Given the description of an element on the screen output the (x, y) to click on. 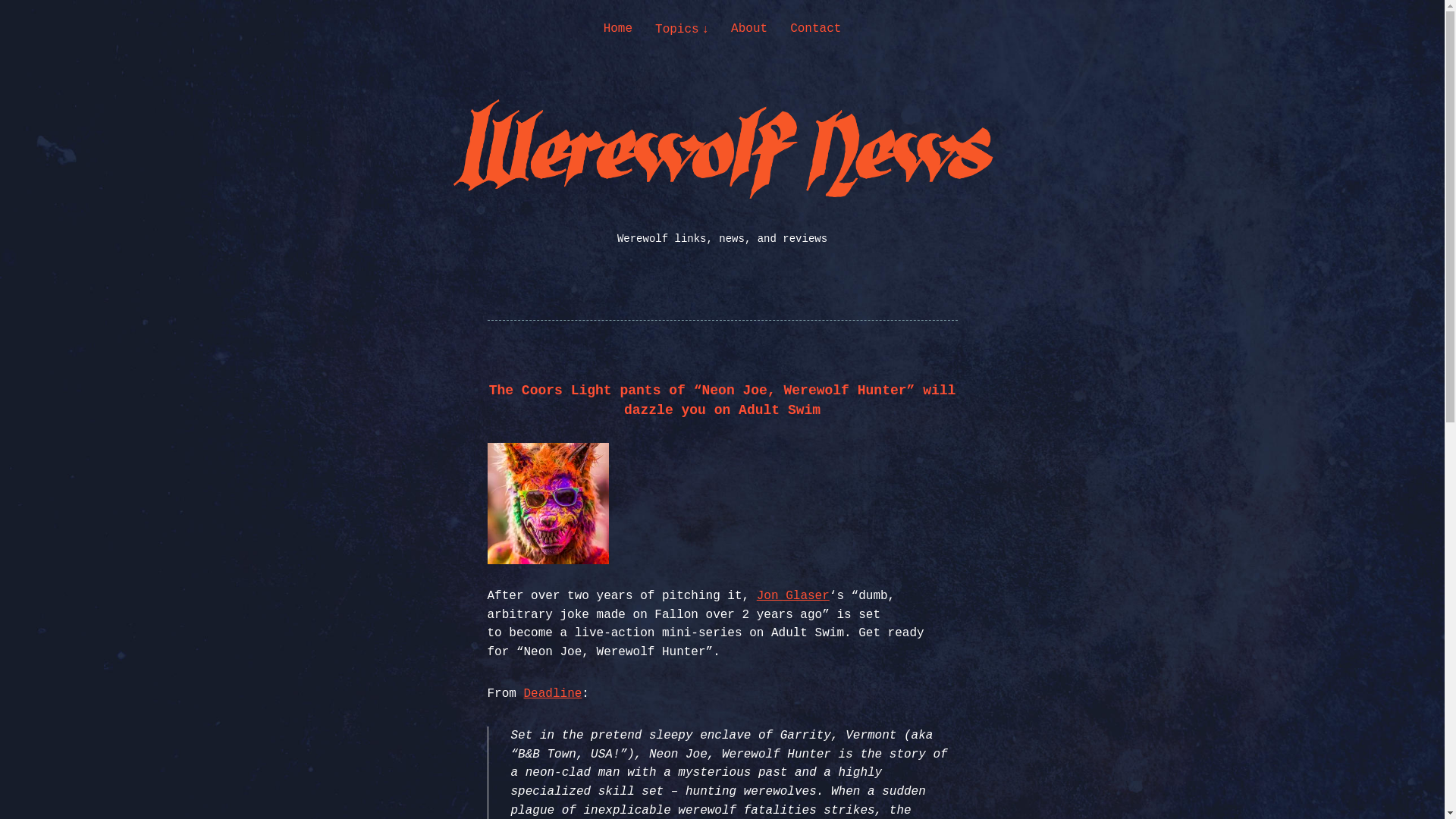
Contact (815, 29)
Deadline (553, 694)
Jon Glaser (793, 595)
About (748, 29)
Topics (681, 29)
Home (617, 29)
Werewolf News (143, 186)
